Given the description of an element on the screen output the (x, y) to click on. 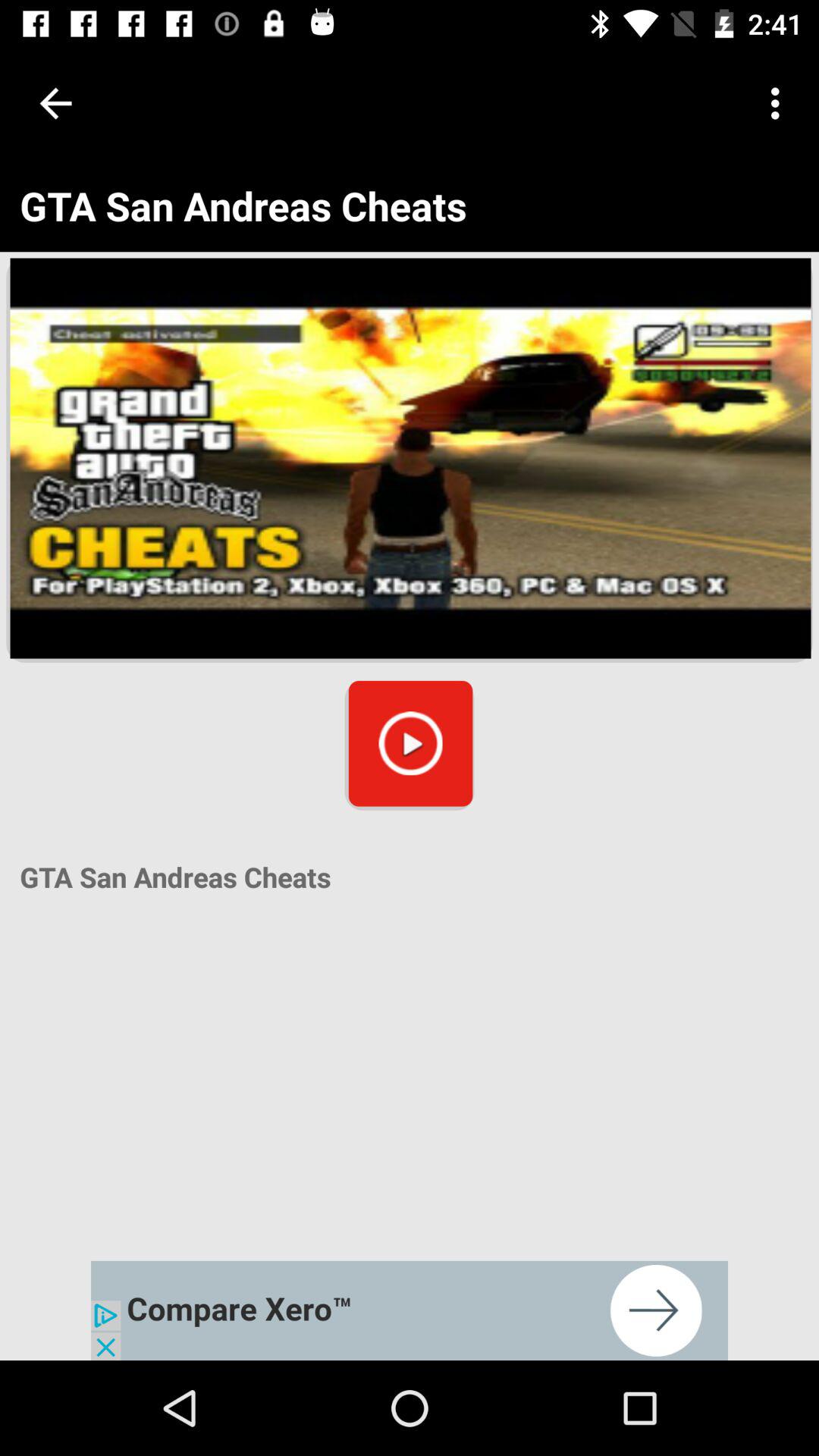
click on add (409, 1310)
